Given the description of an element on the screen output the (x, y) to click on. 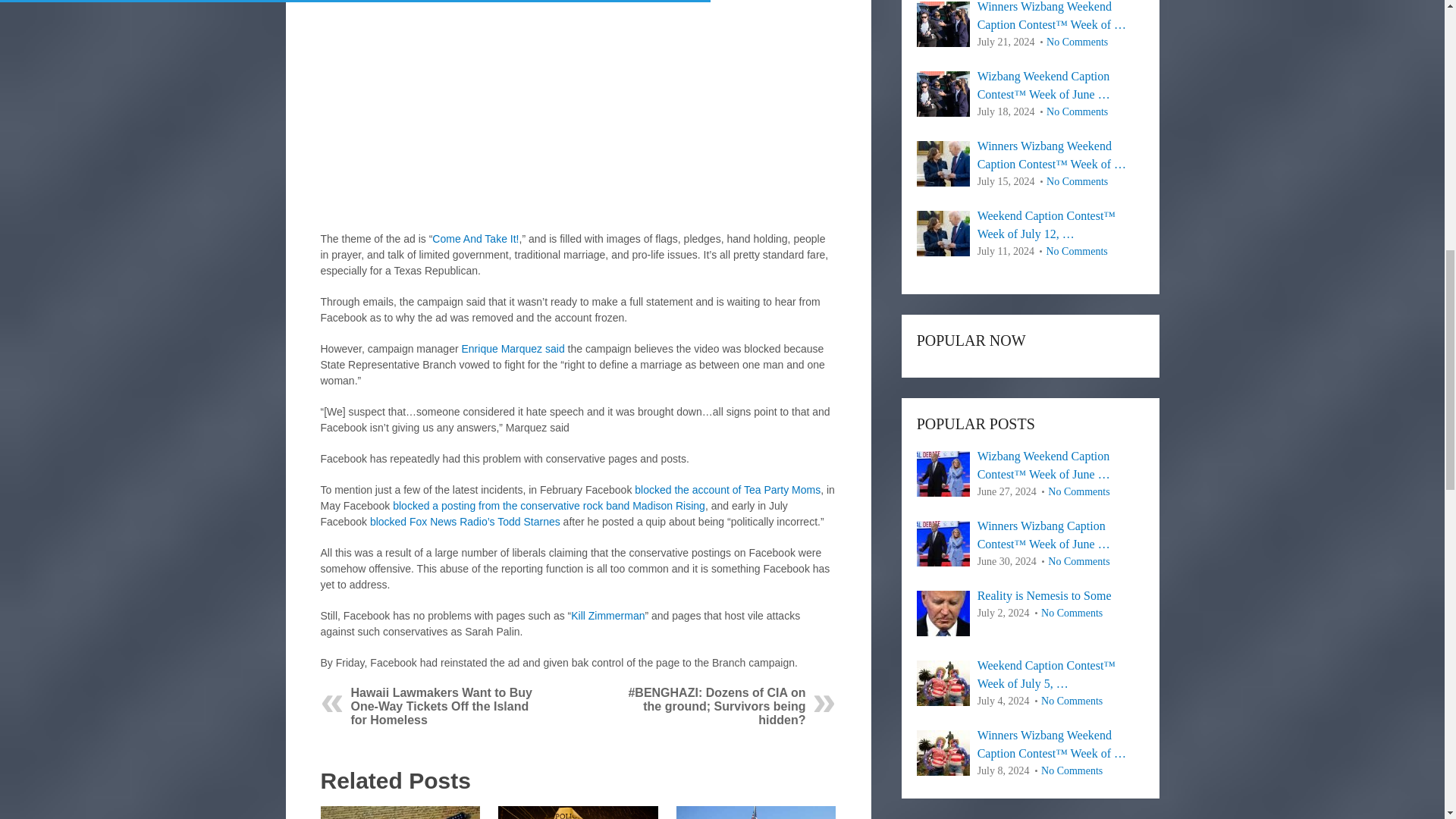
Come And Take It! (475, 238)
Kill Zimmerman (607, 615)
Enrique Marquez said (512, 348)
blocked the account of Tea Party Moms (727, 490)
